Given the description of an element on the screen output the (x, y) to click on. 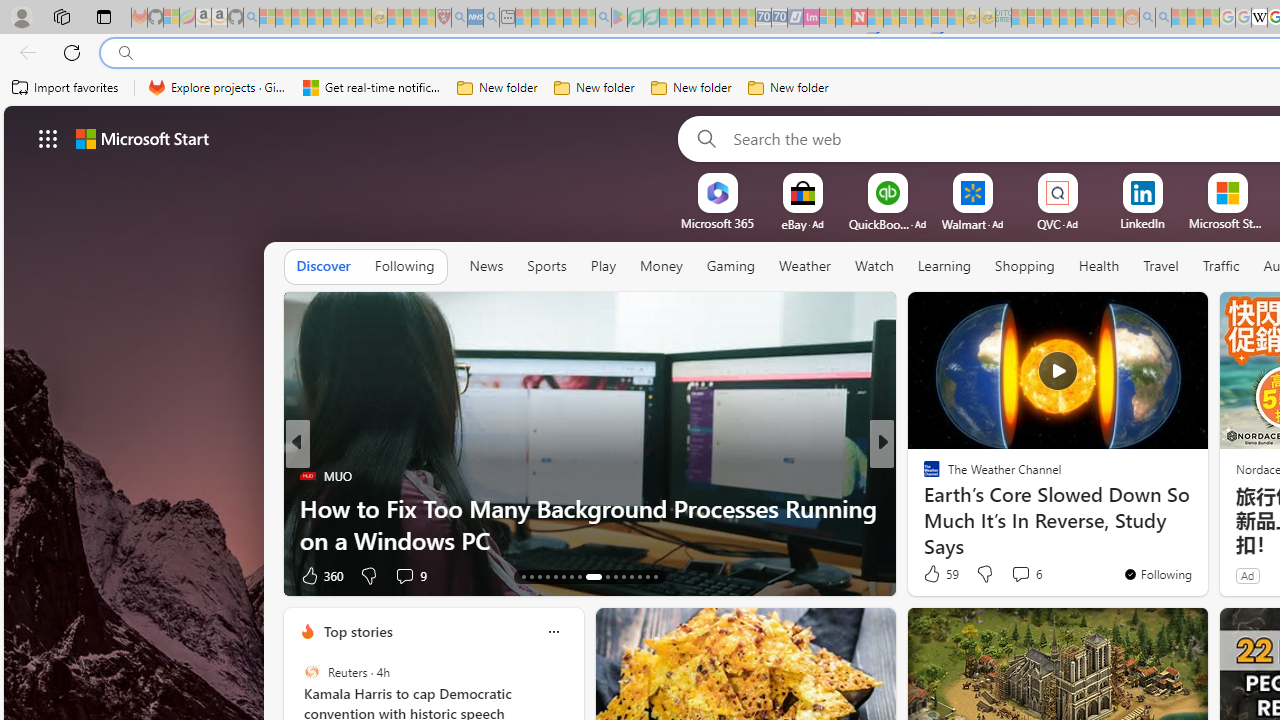
View comments 2 Comment (1019, 575)
View comments 5 Comment (1019, 574)
Expert Portfolios - Sleeping (1067, 17)
AutomationID: tab-18 (563, 576)
Bluey: Let's Play! - Apps on Google Play - Sleeping (619, 17)
Import favorites (65, 88)
Traffic (1220, 267)
AutomationID: tab-23 (614, 576)
MUO (307, 475)
Jobs - lastminute.com Investor Portal - Sleeping (811, 17)
AutomationID: tab-24 (623, 576)
Giant Freakin Robot (923, 507)
